Given the description of an element on the screen output the (x, y) to click on. 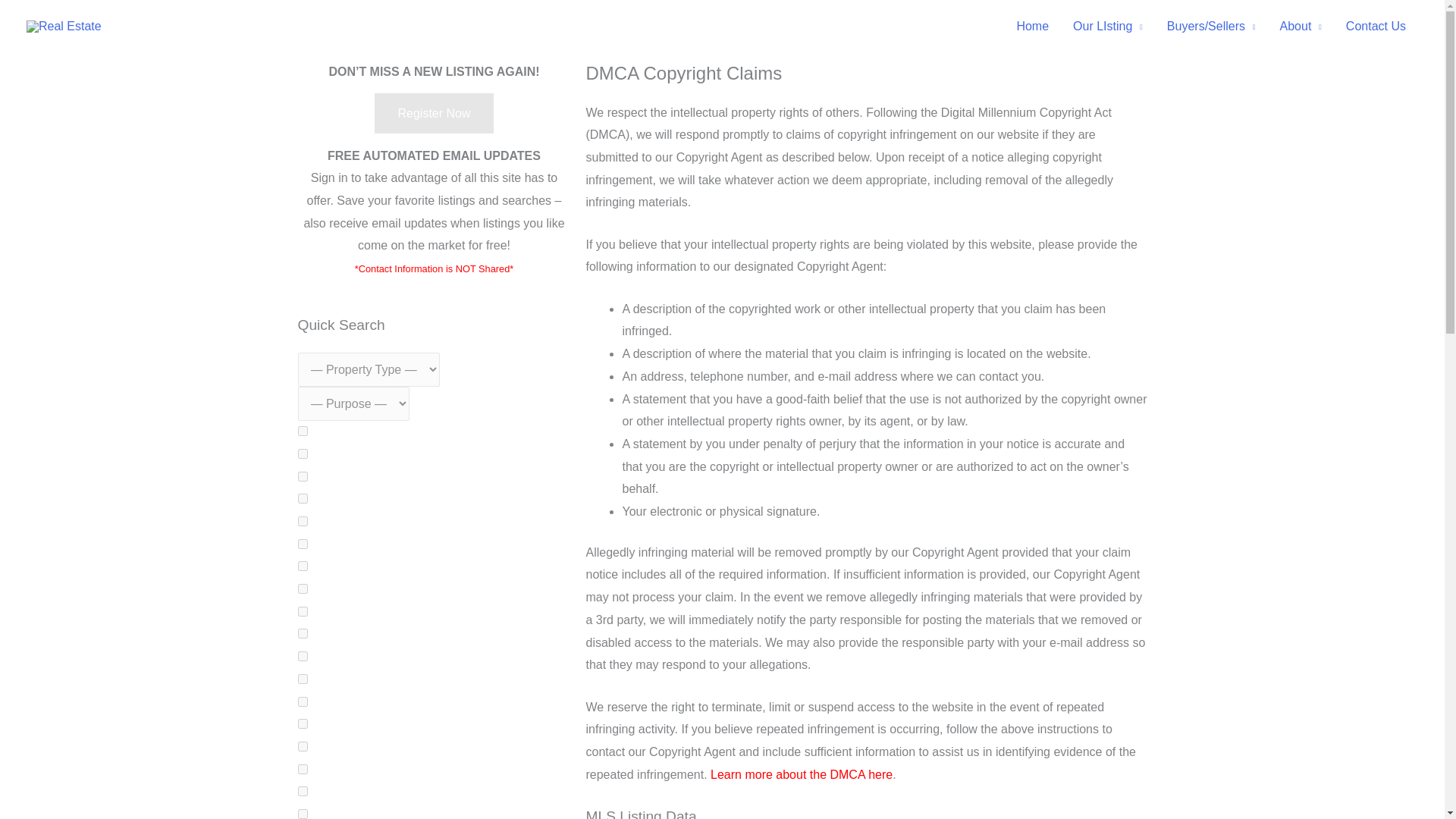
on (302, 768)
About (1300, 26)
on (302, 723)
Our LIsting (1107, 26)
on (302, 701)
on (302, 678)
on (302, 521)
Contact Us (1375, 26)
on (302, 588)
on (302, 791)
on (302, 655)
on (302, 633)
on (302, 565)
Home (1032, 26)
on (302, 498)
